Given the description of an element on the screen output the (x, y) to click on. 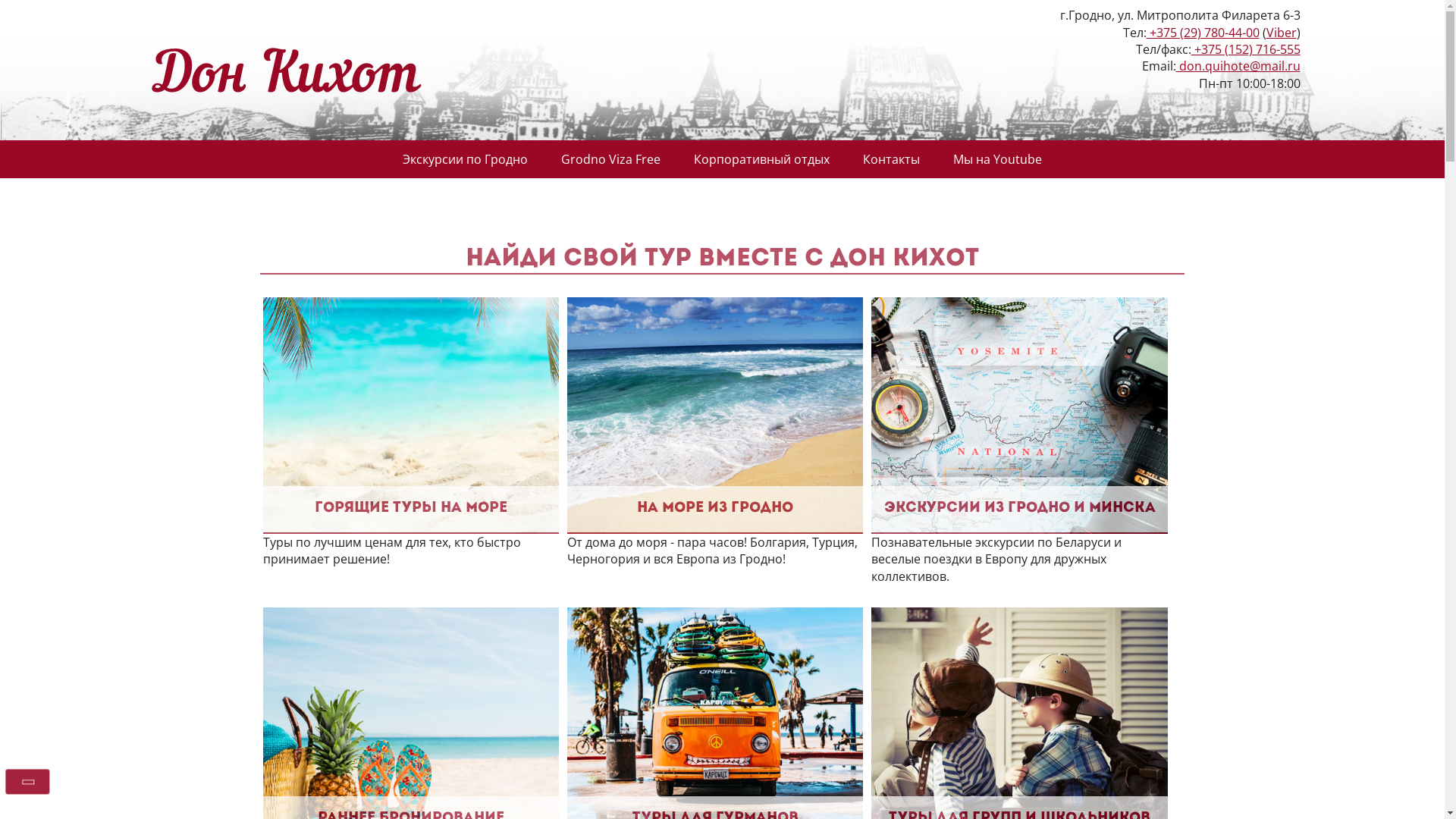
Grodno Viza Free Element type: text (610, 159)
don.quihote@mail.ru Element type: text (1237, 65)
+375 (152) 716-555 Element type: text (1244, 48)
Viber Element type: text (1281, 32)
+375 (29) 780-44-00 Element type: text (1202, 32)
